Given the description of an element on the screen output the (x, y) to click on. 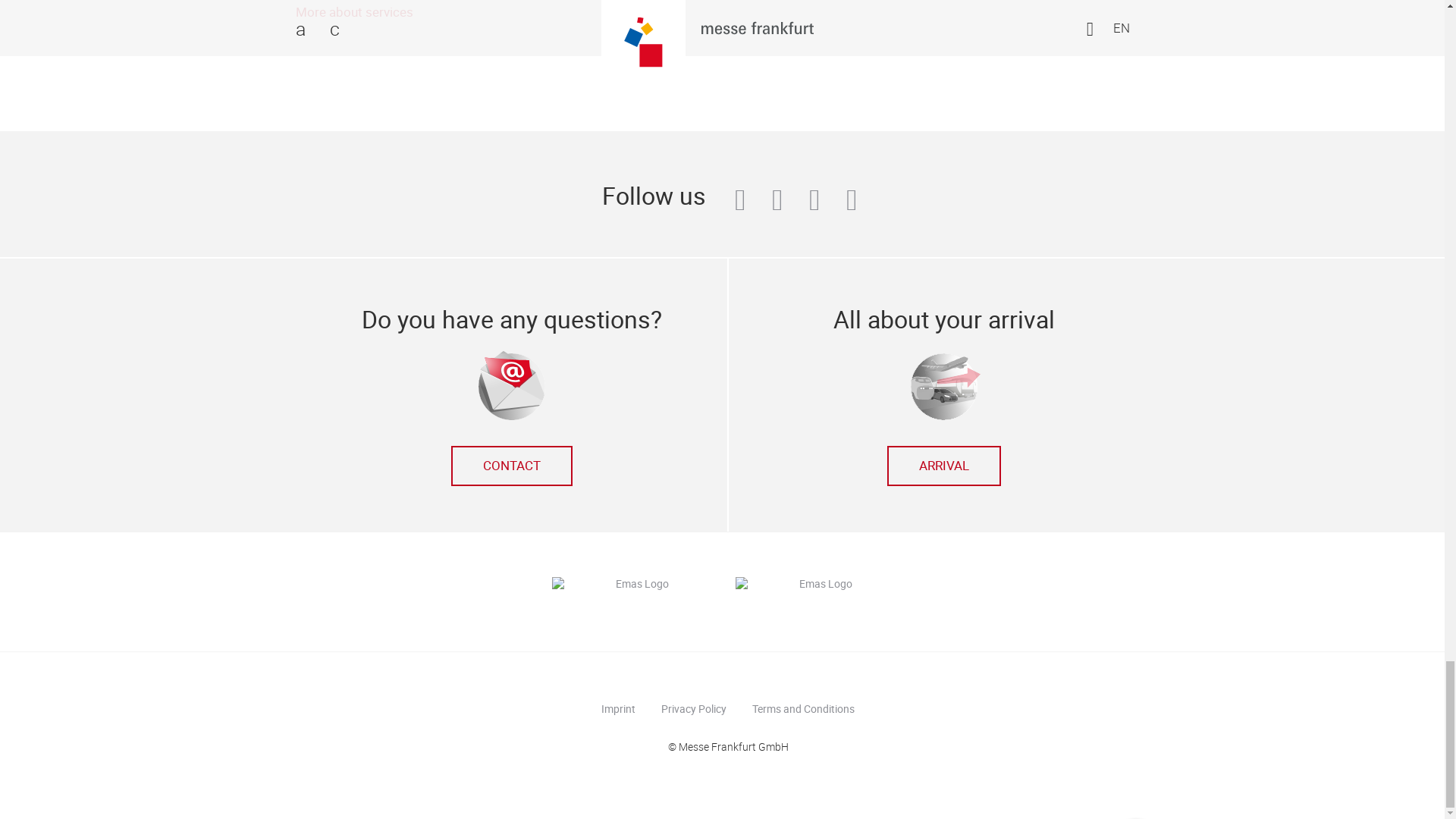
Link to services for organisers (354, 12)
